Given the description of an element on the screen output the (x, y) to click on. 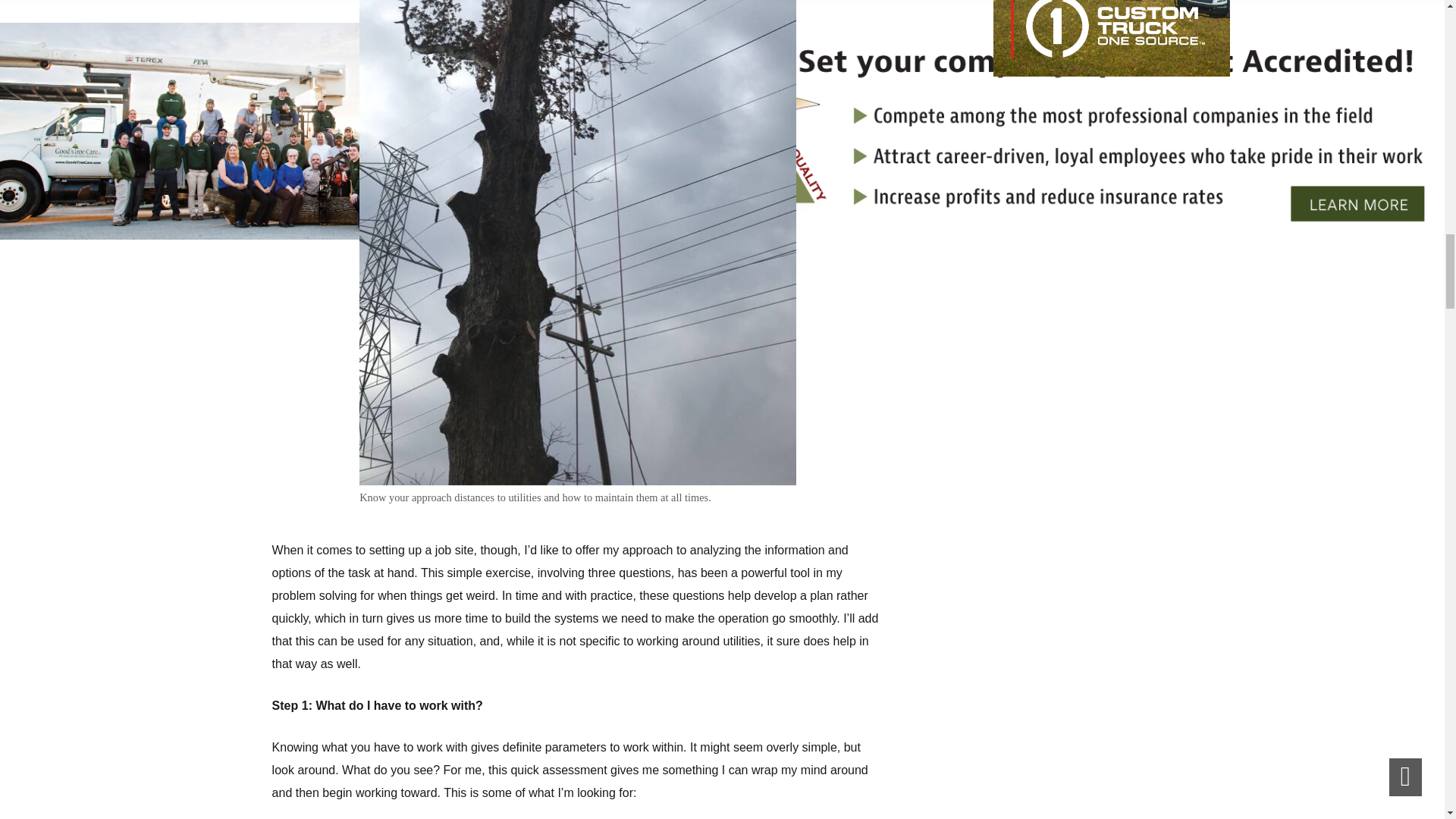
Custom Truck One Source (1111, 38)
